Given the description of an element on the screen output the (x, y) to click on. 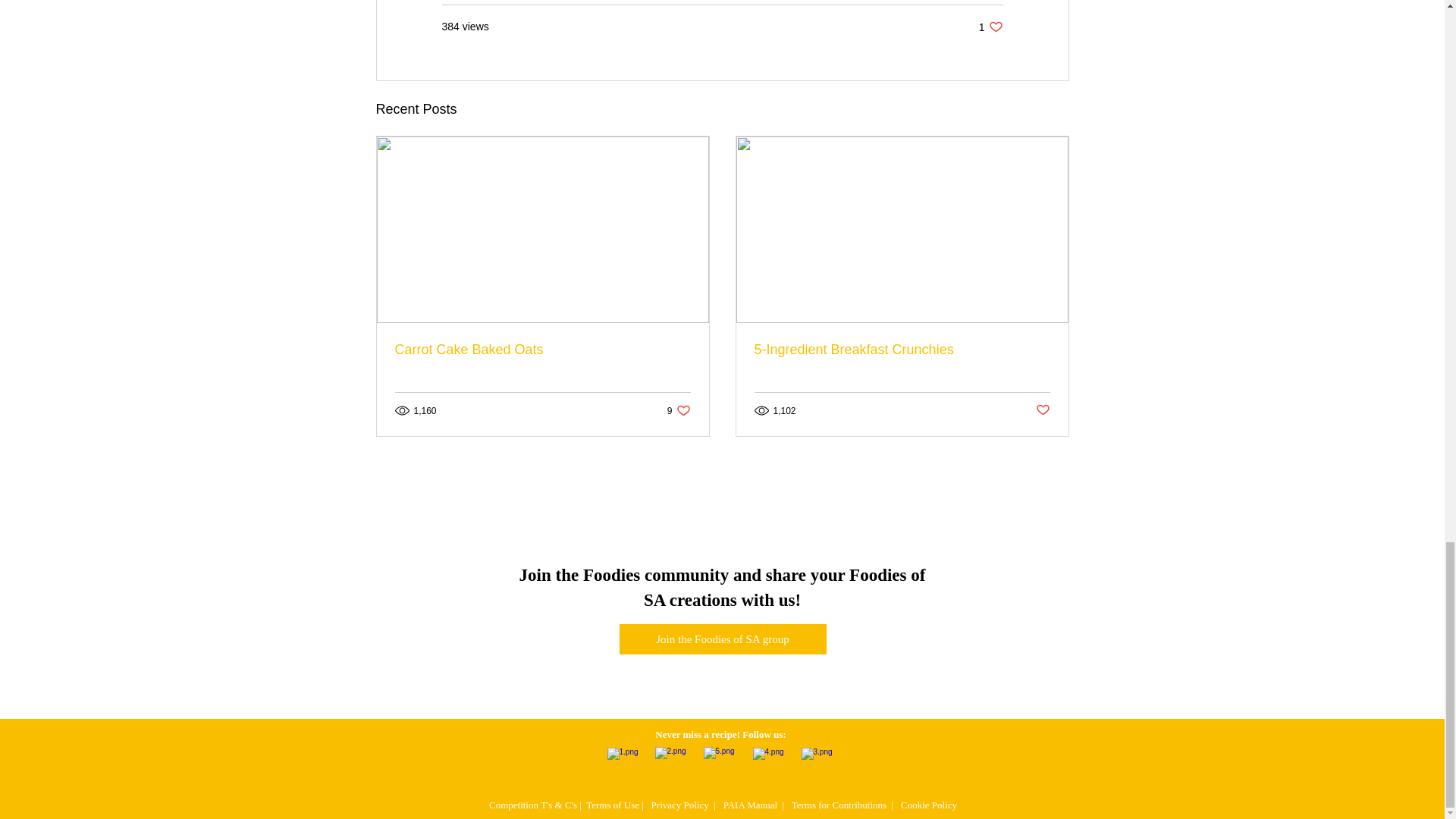
Carrot Cake Baked Oats (990, 26)
Join the Foodies of SA group (542, 349)
Post not marked as liked (678, 410)
5-Ingredient Breakfast Crunchies (721, 639)
